Given the description of an element on the screen output the (x, y) to click on. 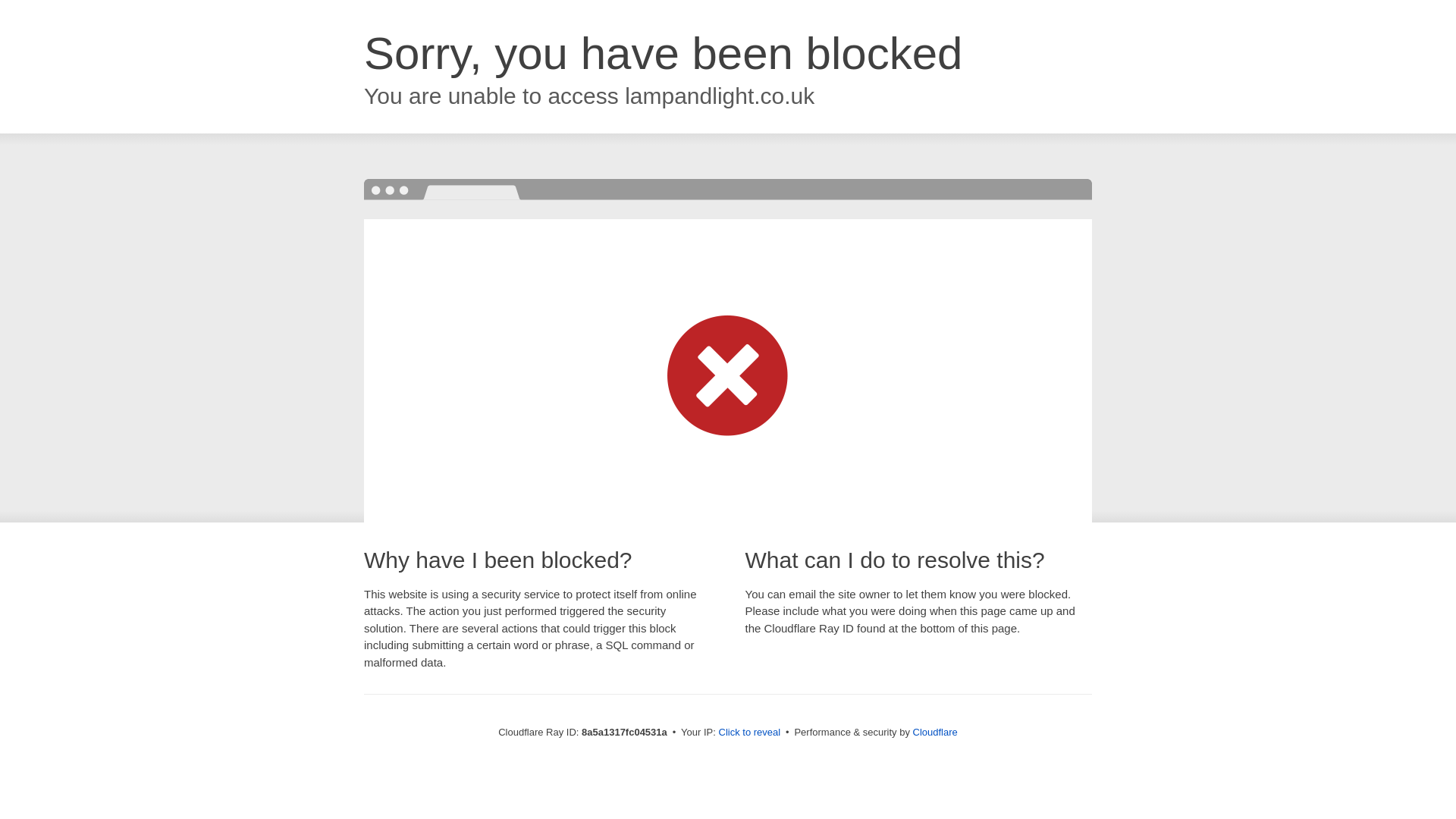
Click to reveal (749, 732)
Cloudflare (935, 731)
